Given the description of an element on the screen output the (x, y) to click on. 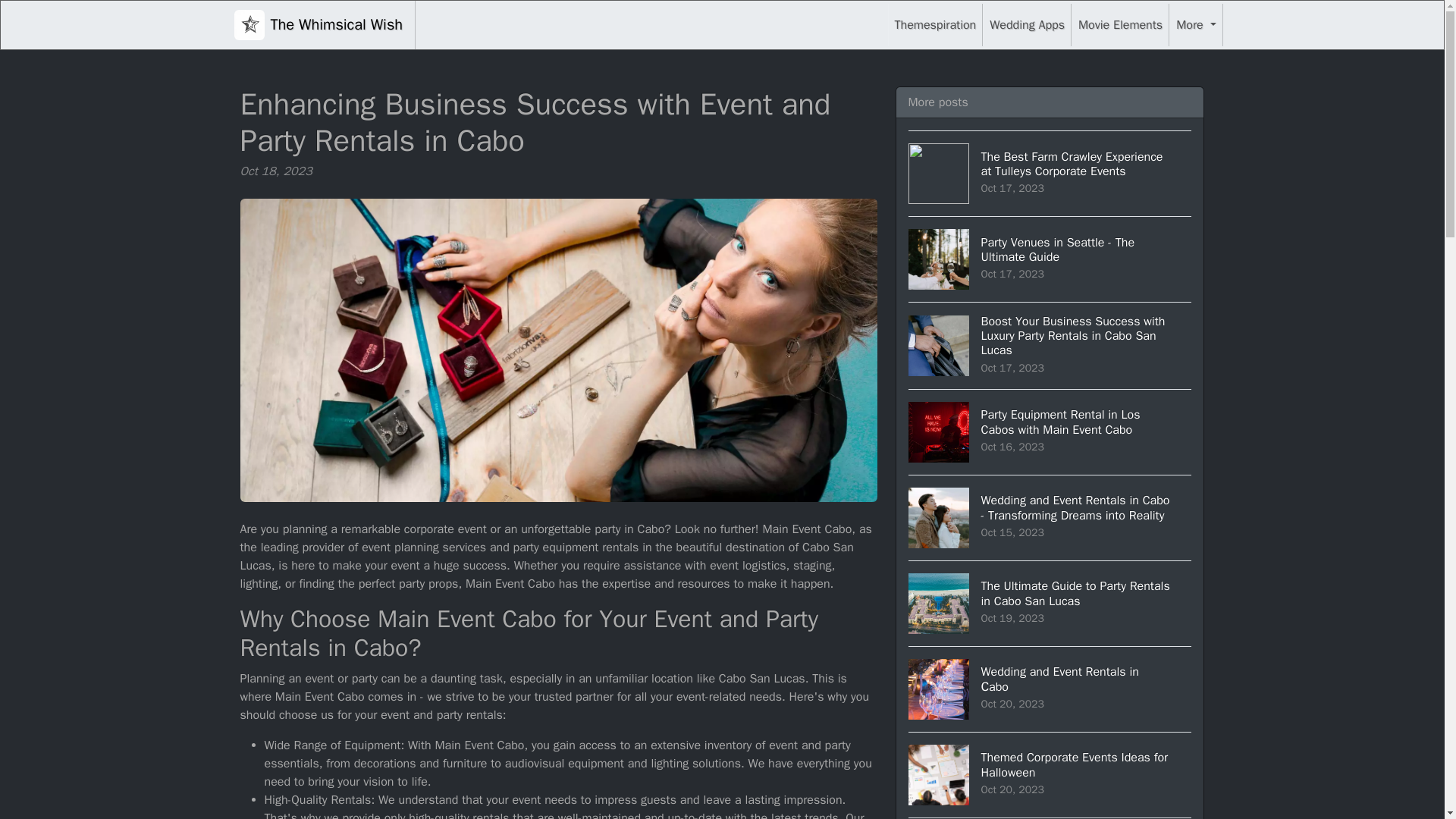
The Whimsical Wish (1050, 259)
Movie Elements (317, 24)
Themespiration (1050, 774)
More (1120, 24)
